Given the description of an element on the screen output the (x, y) to click on. 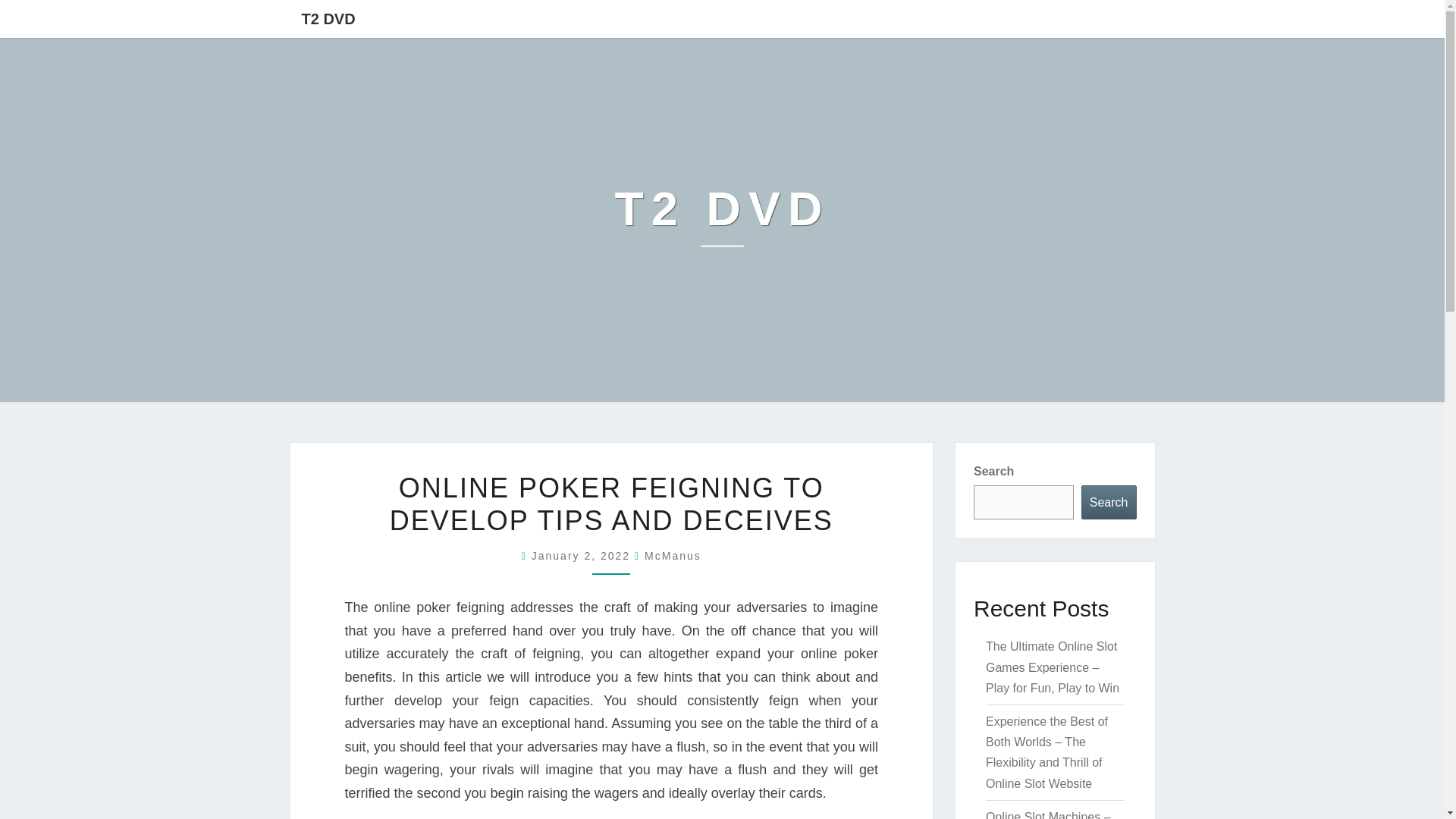
T2 DVD (721, 220)
January 2, 2022 (582, 555)
View all posts by McManus (673, 555)
McManus (673, 555)
Search (1109, 502)
5:03 am (582, 555)
T2 DVD (327, 18)
T2 Dvd (721, 220)
